Given the description of an element on the screen output the (x, y) to click on. 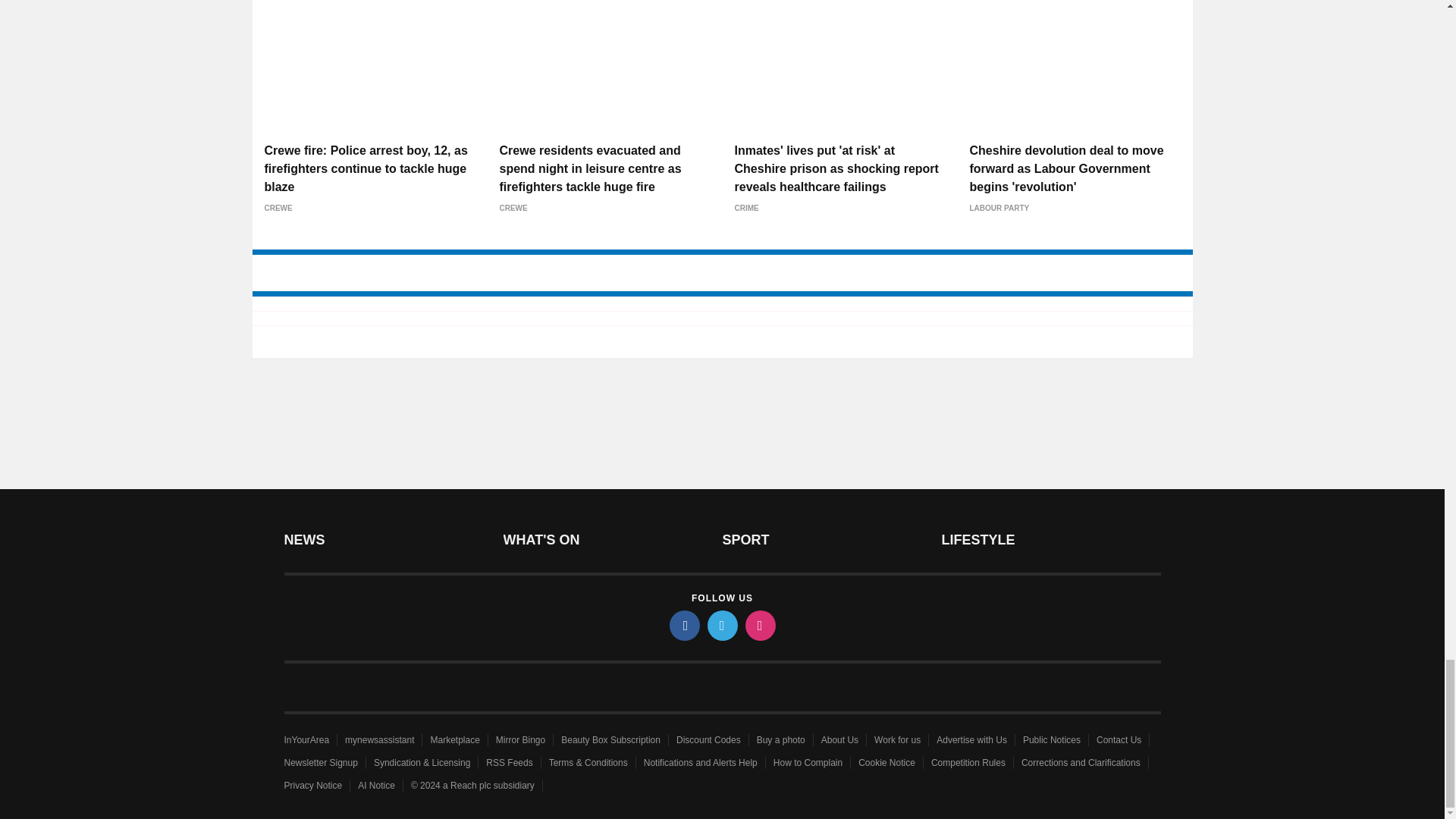
twitter (721, 625)
instagram (759, 625)
facebook (683, 625)
